Given the description of an element on the screen output the (x, y) to click on. 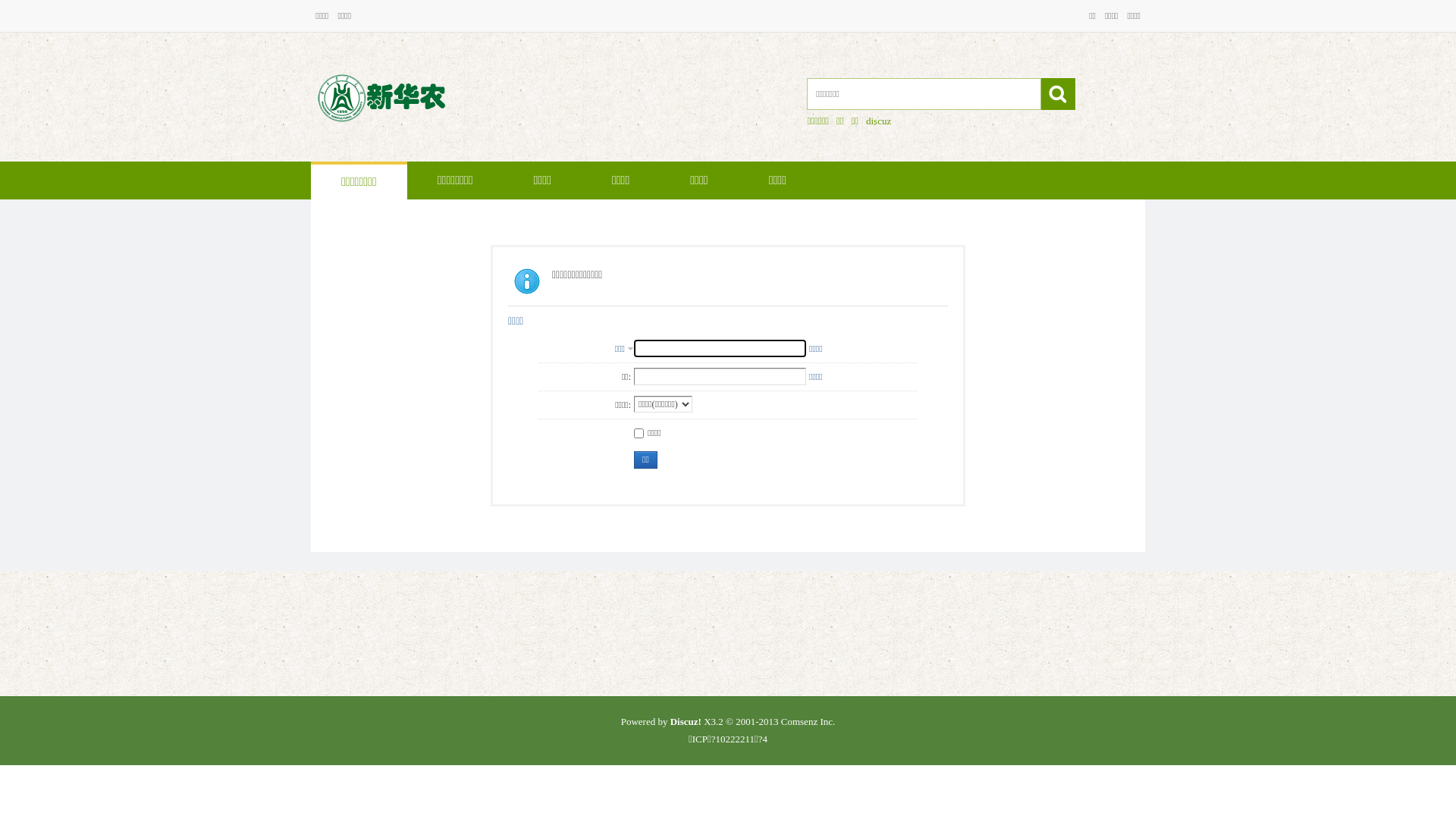
true Element type: text (1058, 93)
Discuz! Element type: text (685, 721)
discuz Element type: text (878, 120)
Comsenz Inc. Element type: text (807, 721)
